Given the description of an element on the screen output the (x, y) to click on. 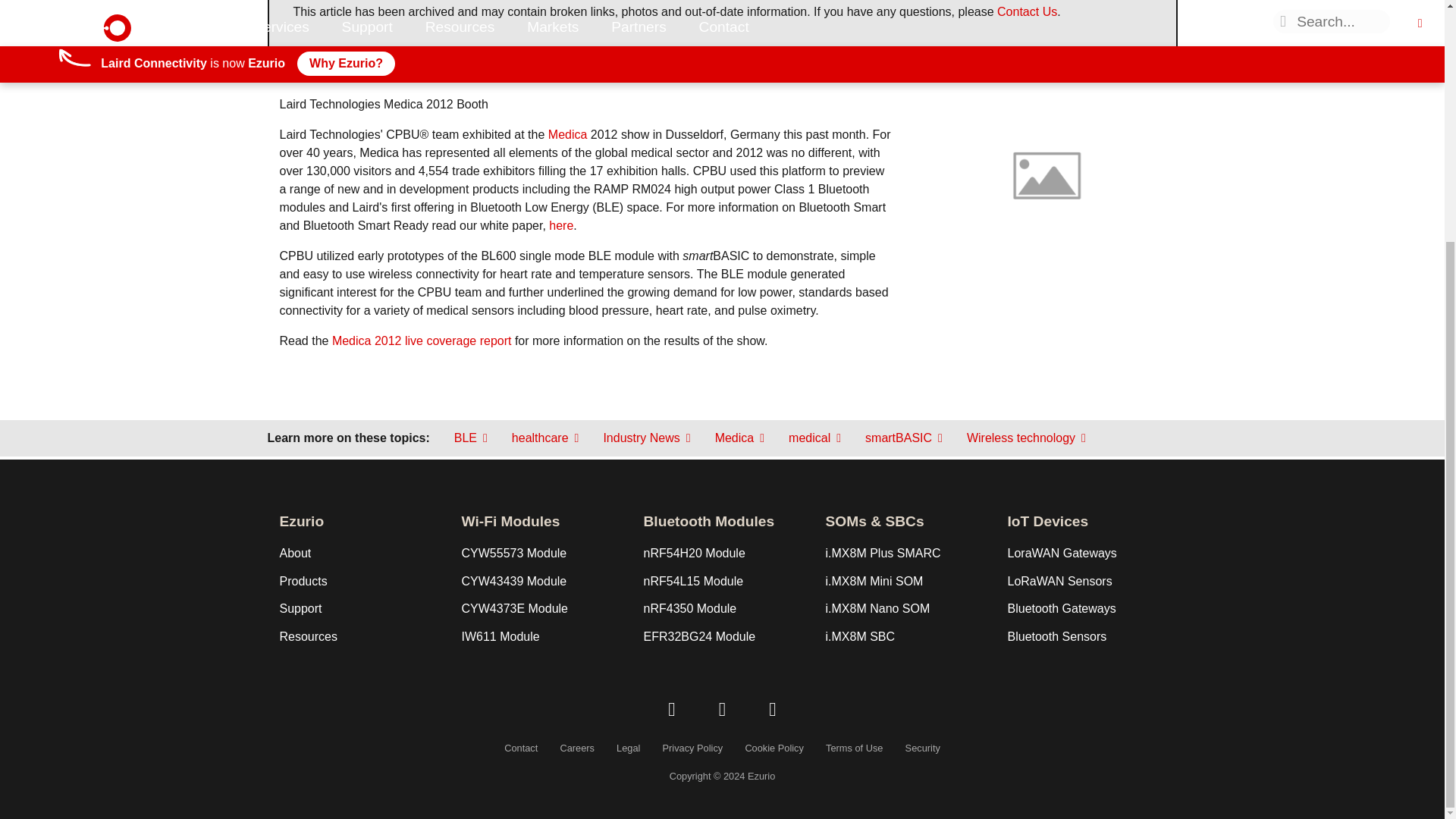
Embedded Wireless Solutions White Papers (560, 225)
YouTube (772, 709)
LinkedIn (671, 709)
Twitter (721, 709)
